Given the description of an element on the screen output the (x, y) to click on. 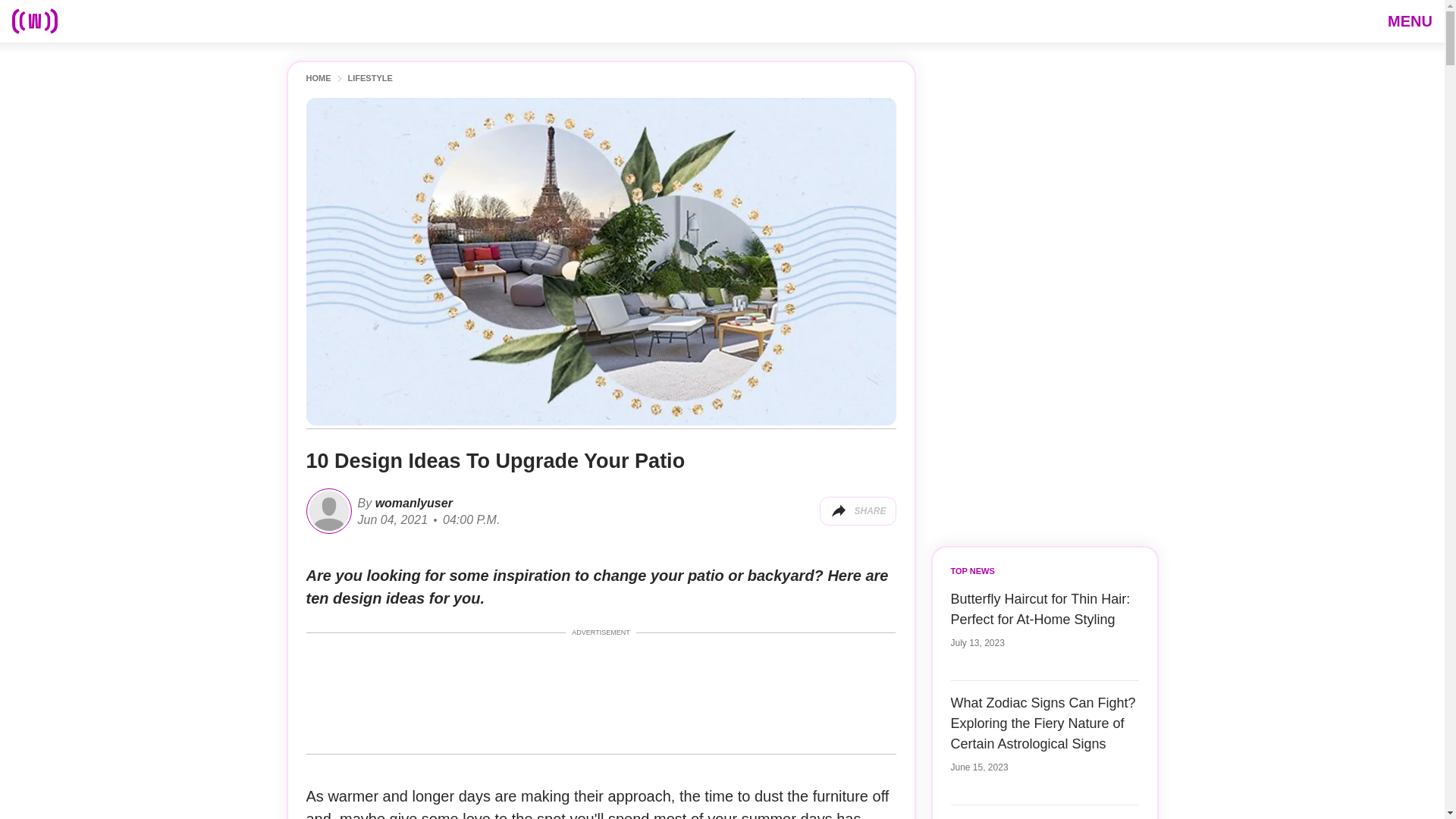
LIFESTYLE (369, 78)
SHARE (857, 510)
womanlyuser (411, 502)
MENU (1409, 20)
HOME (318, 78)
